Given the description of an element on the screen output the (x, y) to click on. 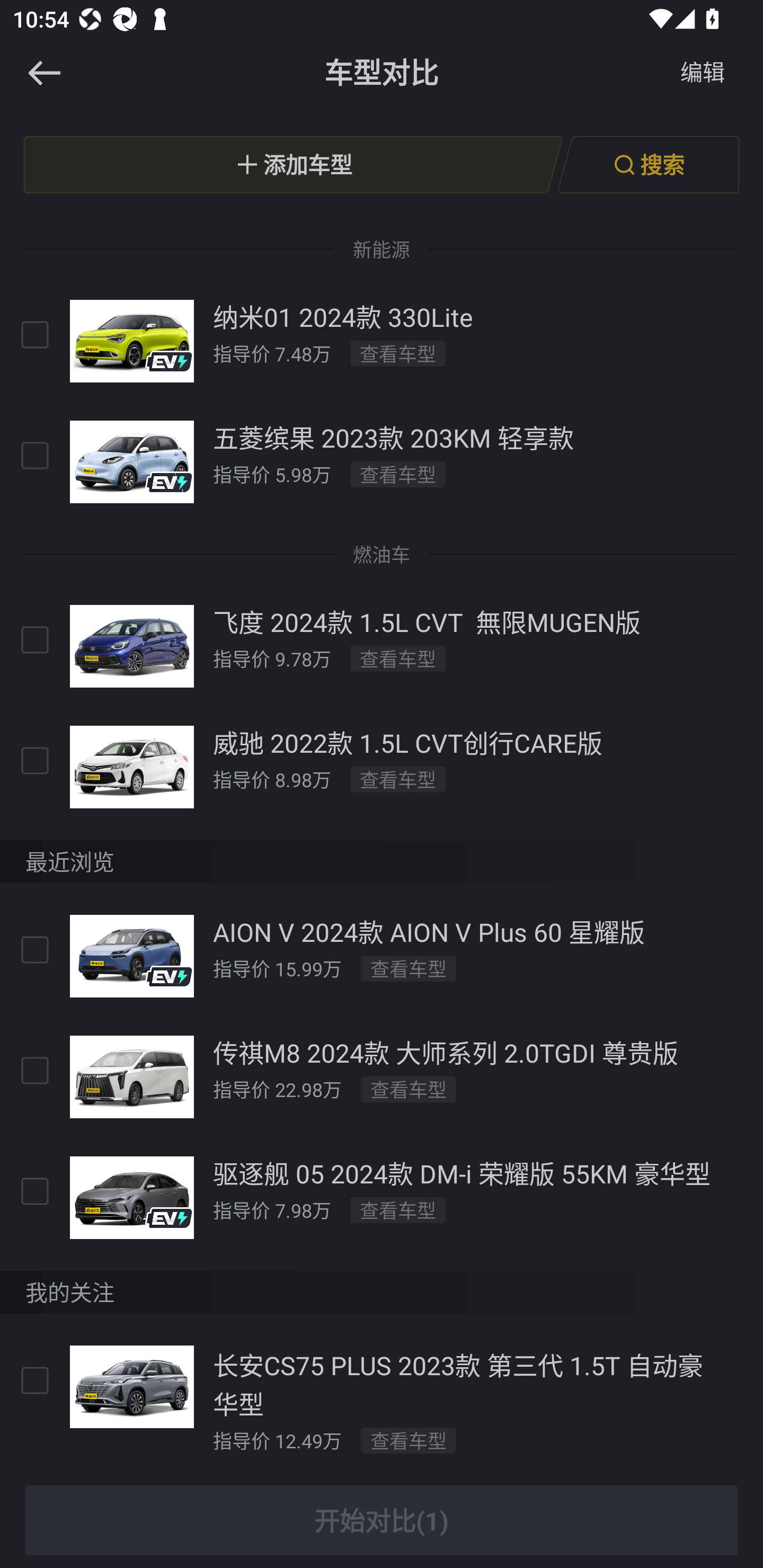
编辑 (702, 72)
 添加车型 (293, 164)
 搜索 (647, 164)
纳米01 2024款 330Lite 指导价 7.48万 查看车型 (381, 340)
查看车型 (397, 353)
五菱缤果 2023款 203KM 轻享款 指导价 5.98万 查看车型 (381, 461)
查看车型 (397, 473)
飞度 2024款 1.5L CVT  無限MUGEN版 指导价 9.78万 查看车型 (381, 646)
查看车型 (397, 658)
威驰 2022款 1.5L CVT创行CARE版 指导价 8.98万 查看车型 (381, 767)
查看车型 (397, 778)
AION V 2024款 AION V Plus 60 星耀版 指导价 15.99万 查看车型 (381, 955)
查看车型 (408, 967)
传祺M8 2024款 大师系列 2.0TGDI 尊贵版 指导价 22.98万 查看车型 (381, 1076)
查看车型 (408, 1088)
驱逐舰 05 2024款 DM-i 荣耀版 55KM 豪华型 指导价 7.98万 查看车型 (381, 1196)
查看车型 (397, 1210)
长安CS75 PLUS 2023款 第三代 1.5T 自动豪华型 指导价 12.49万 查看车型 (381, 1399)
查看车型 (408, 1439)
开始对比(1) (381, 1519)
